Given the description of an element on the screen output the (x, y) to click on. 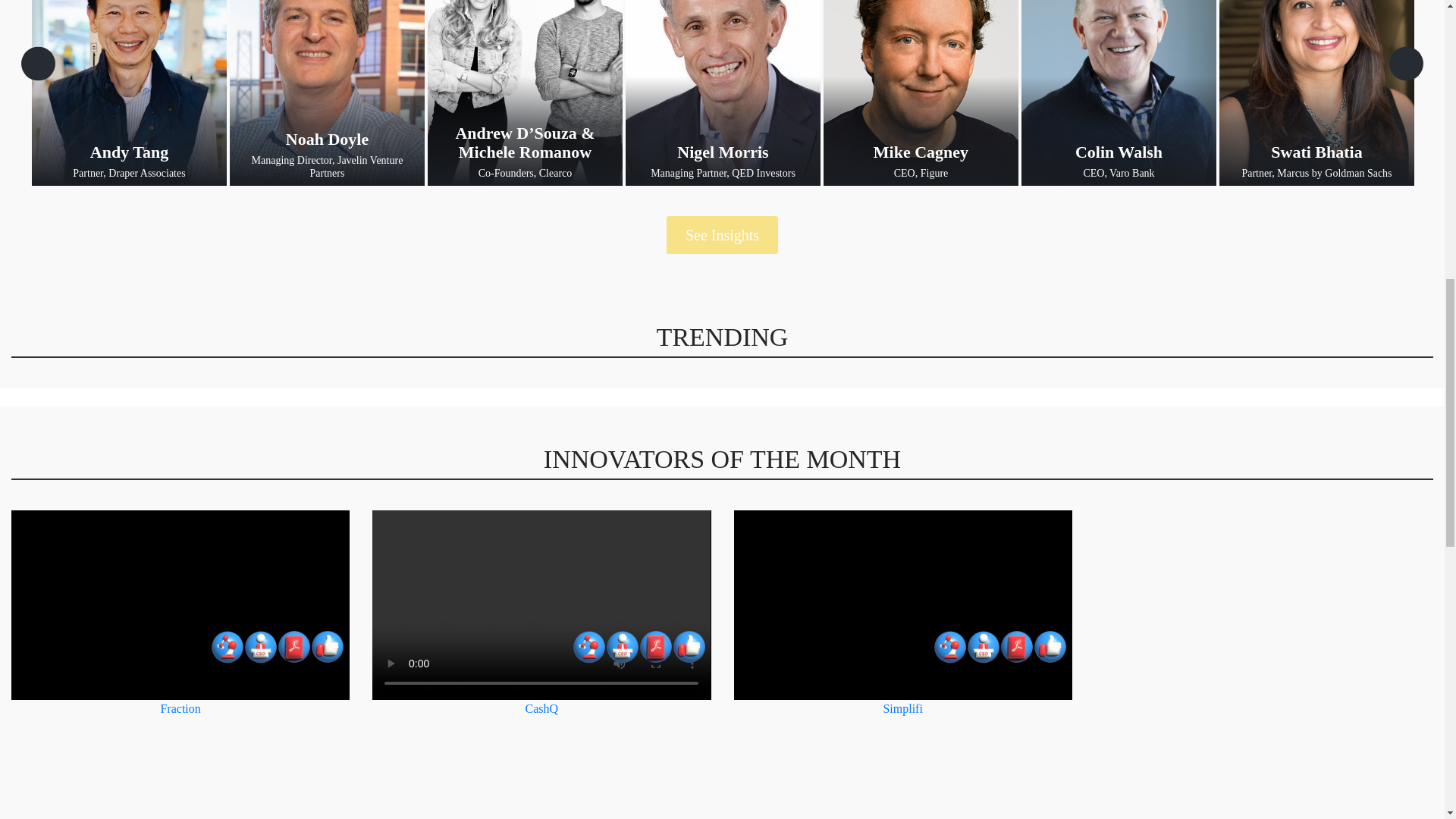
Previous (38, 63)
Next (129, 92)
See Insights (1406, 63)
